Given the description of an element on the screen output the (x, y) to click on. 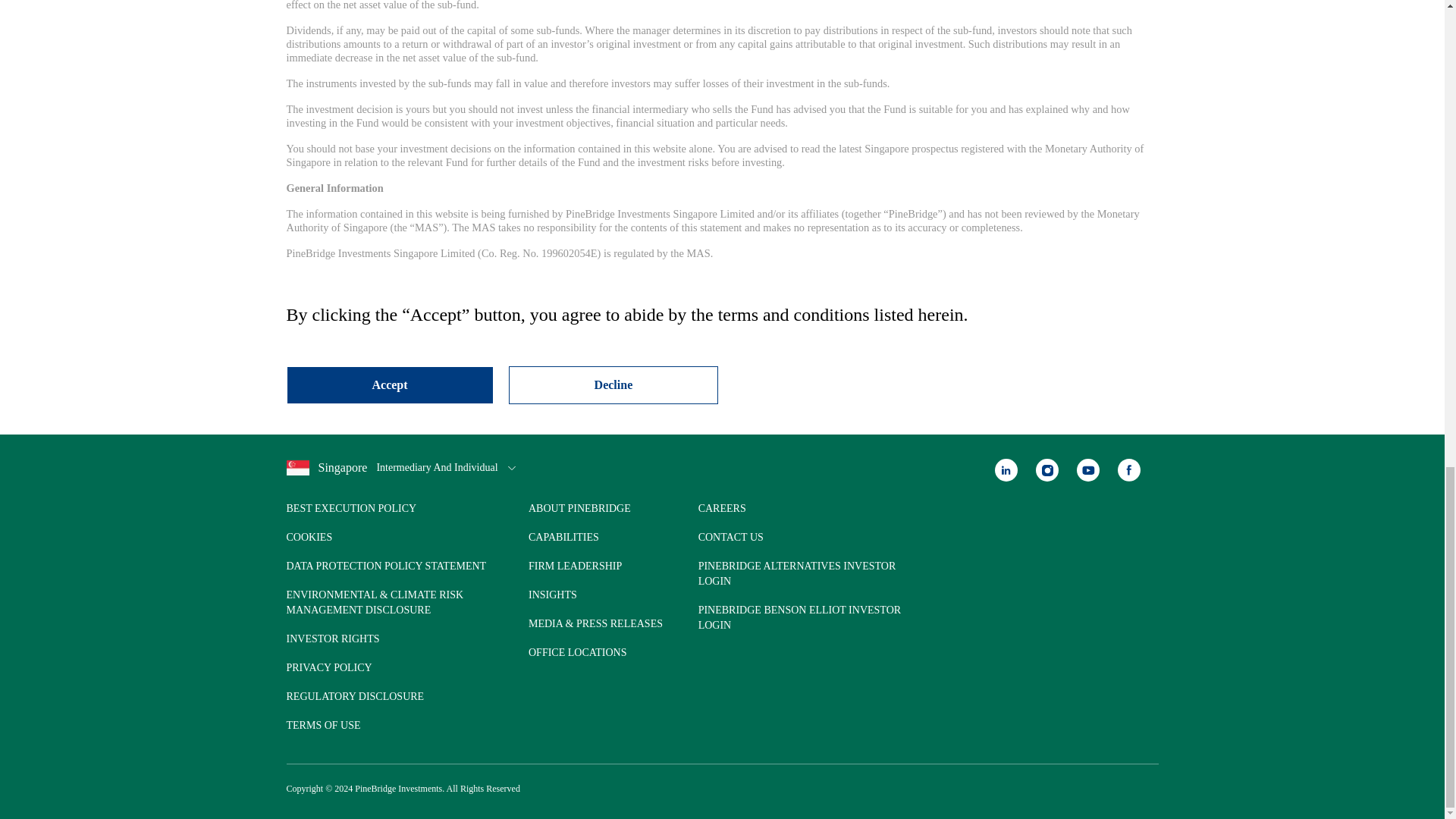
Decline (613, 385)
Accept (389, 385)
